Given the description of an element on the screen output the (x, y) to click on. 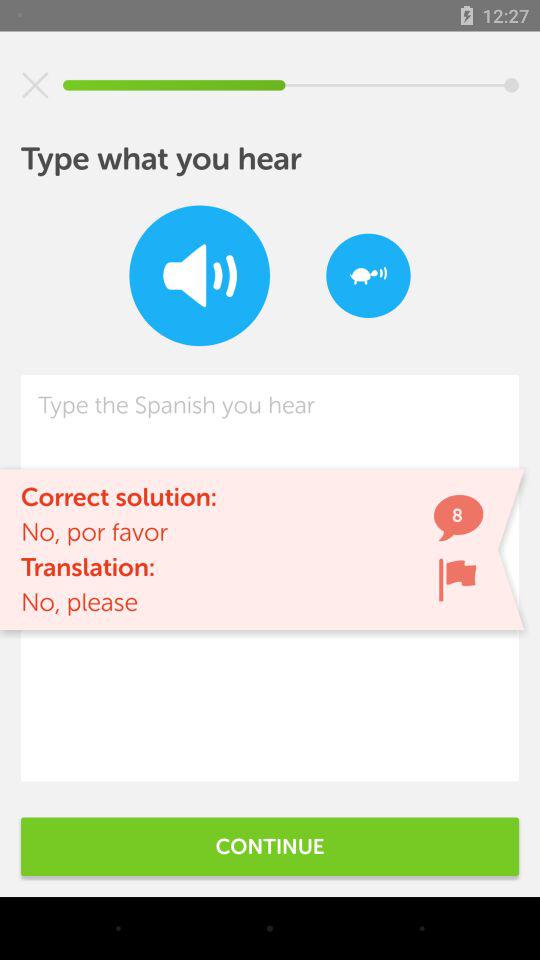
choose icon to the right of no, por favor (457, 579)
